Given the description of an element on the screen output the (x, y) to click on. 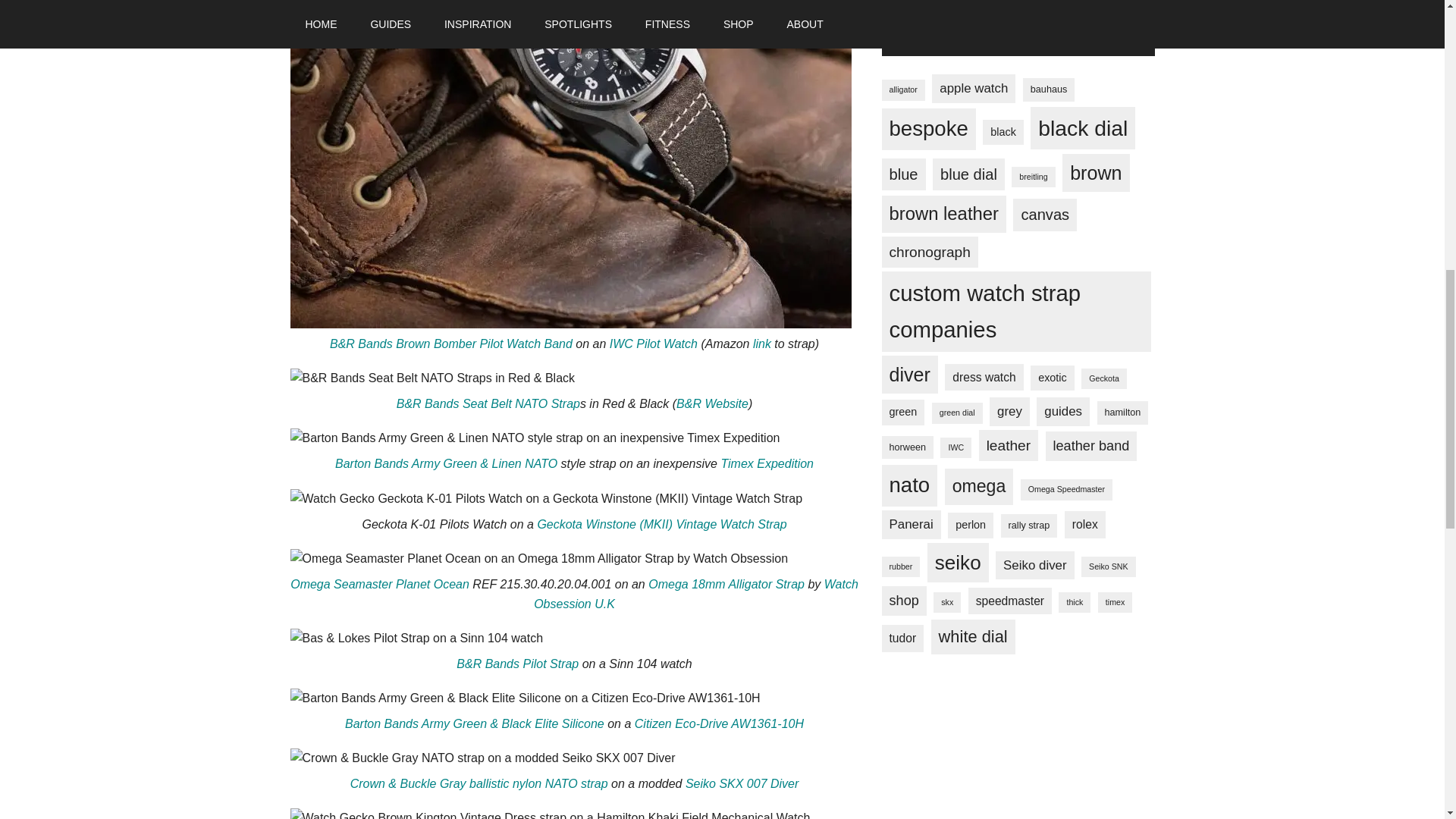
Seiko SKX 007 Diver (741, 783)
Citizen Eco-Drive AW1361-10H (718, 723)
Watch Obsession U.K (696, 594)
IWC Pilot Watch (653, 343)
Omega Seamaster Planet Ocean (378, 584)
link (763, 343)
Omega 18mm Alligator Strap (726, 584)
Timex Expedition (766, 463)
